Given the description of an element on the screen output the (x, y) to click on. 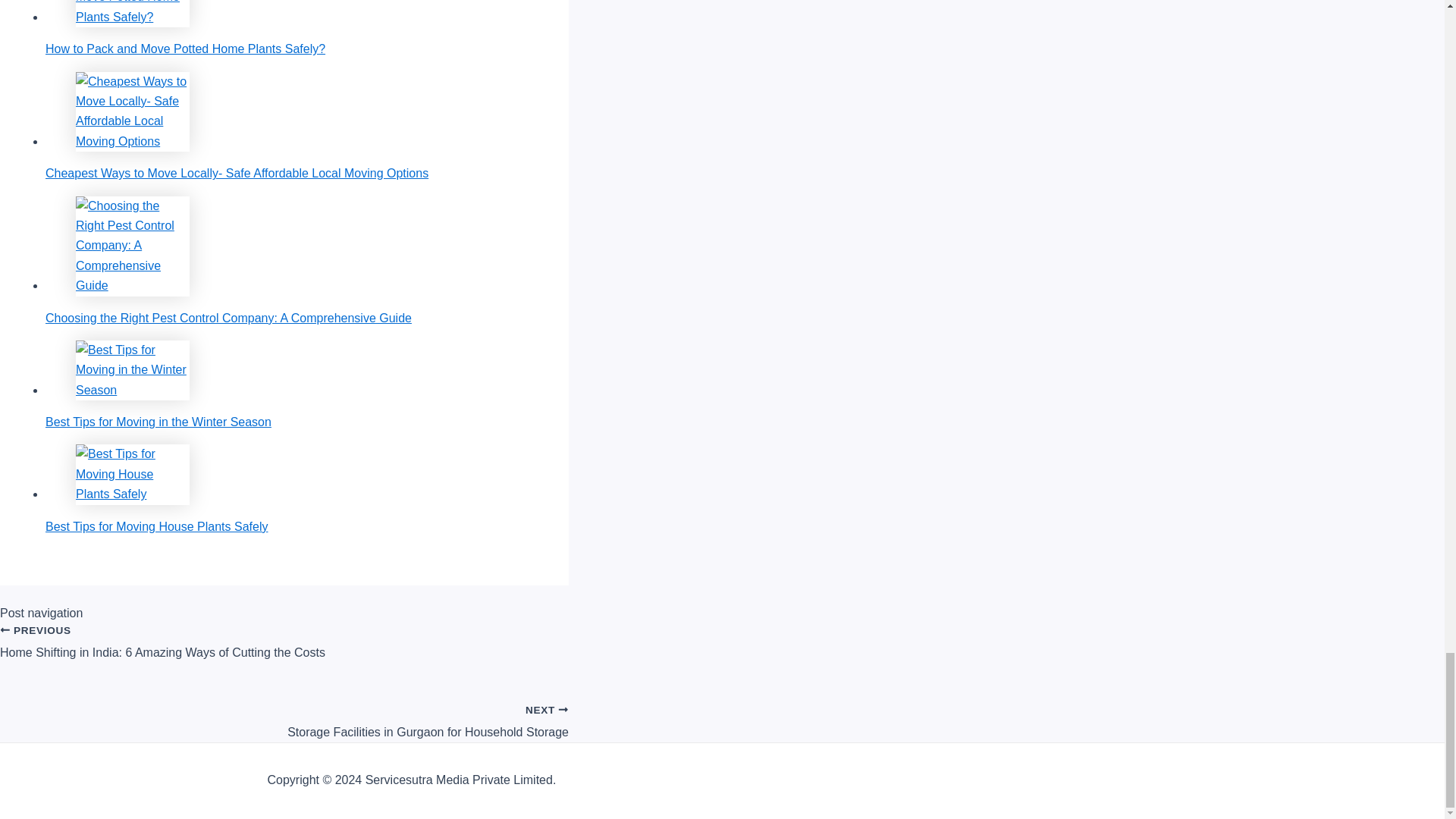
How to Pack and Move Potted Home Plants Safely? (132, 13)
Best Tips for Moving House Plants Safely (132, 474)
Best Tips for Moving House Plants Safely (291, 488)
How to Pack and Move Potted Home Plants Safely? (284, 714)
Best Tips for Moving in the Winter Season (291, 27)
